Given the description of an element on the screen output the (x, y) to click on. 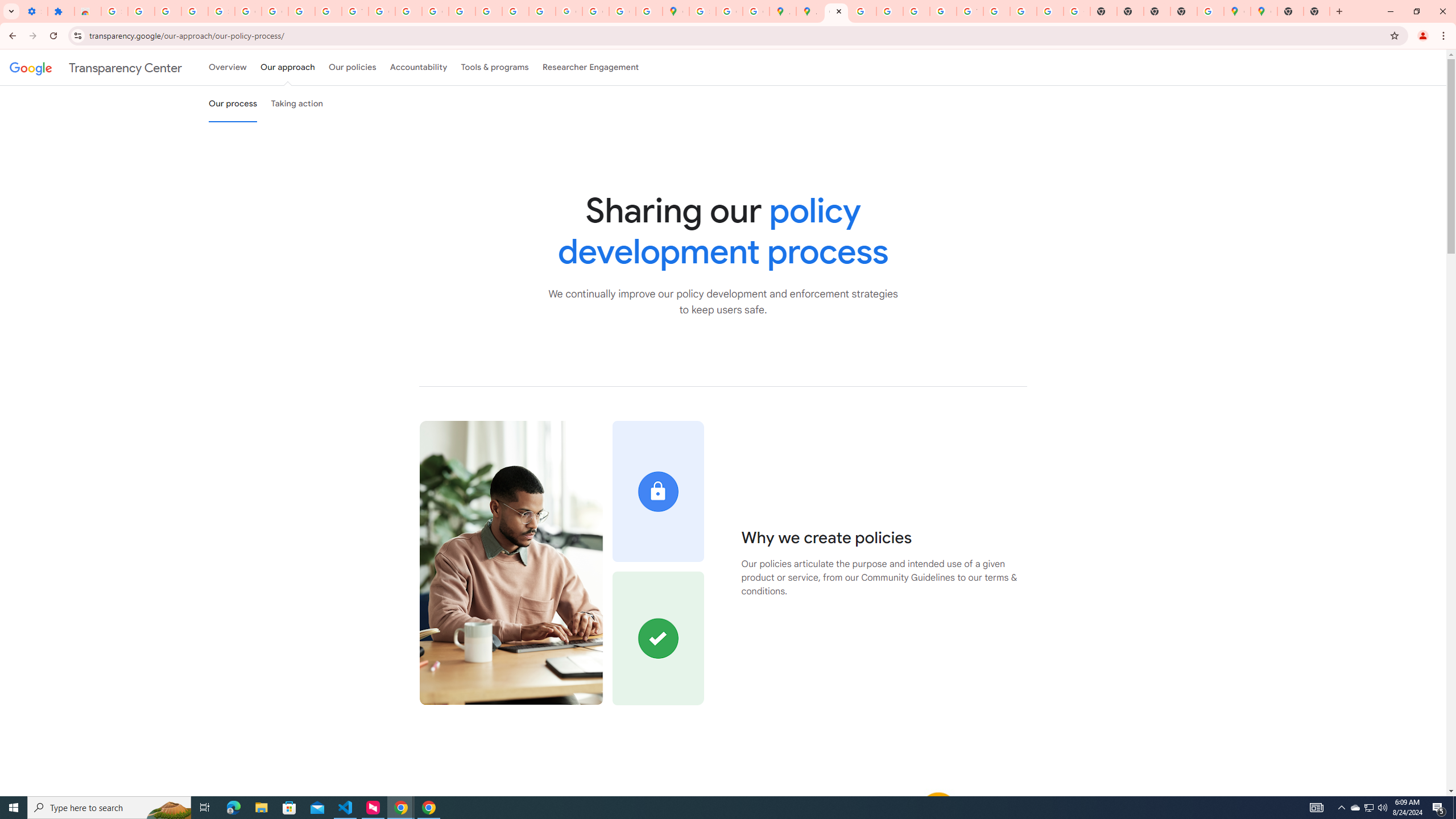
Privacy Help Center - Policies Help (862, 11)
Sign in - Google Accounts (114, 11)
Google Maps (1236, 11)
Google Maps (1263, 11)
YouTube (970, 11)
Our approach (287, 67)
Sign in - Google Accounts (702, 11)
Google Maps (676, 11)
